Given the description of an element on the screen output the (x, y) to click on. 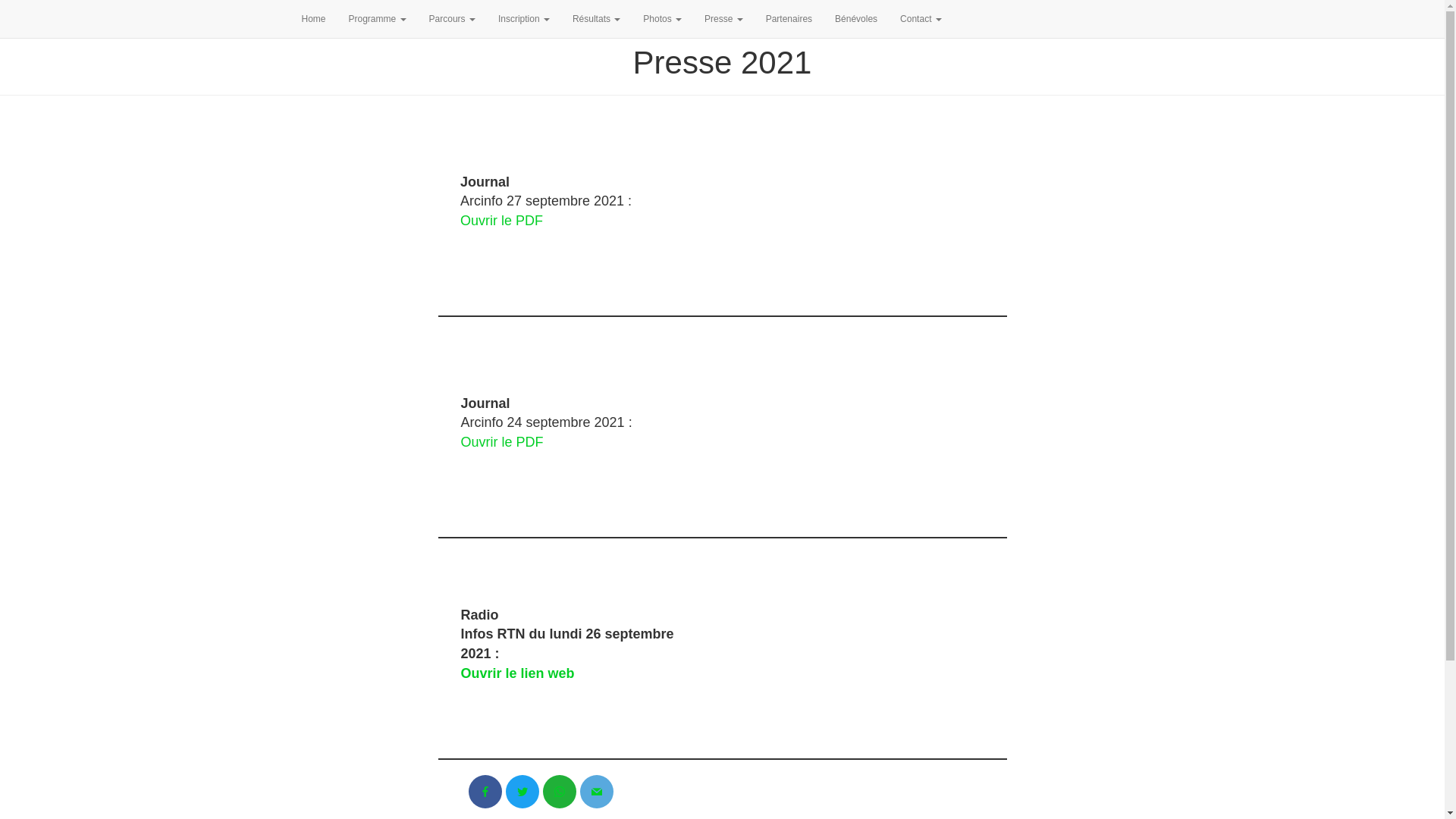
Photos Element type: text (662, 18)
Inscription Element type: text (523, 18)
Parcours Element type: text (451, 18)
Contact Element type: text (920, 18)
PDF Element type: text (529, 441)
Partenaires Element type: text (788, 18)
Ouvrir le Element type: text (488, 441)
PDF Element type: text (528, 220)
Programme Element type: text (377, 18)
Home Element type: text (312, 18)
Ouvrir le Element type: text (487, 220)
Presse Element type: text (723, 18)
Ouvrir le lien web Element type: text (517, 672)
